Given the description of an element on the screen output the (x, y) to click on. 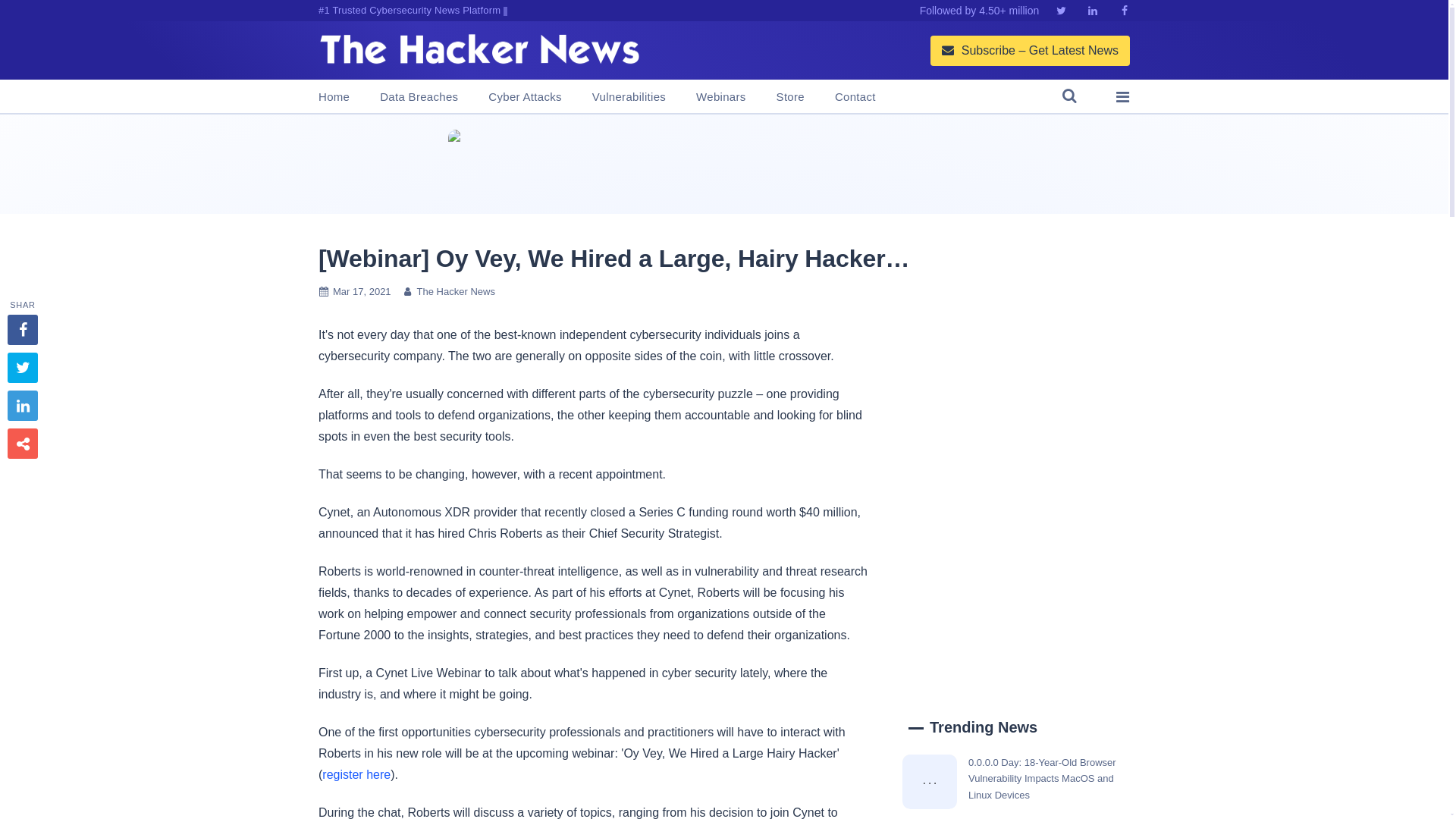
Contact (855, 96)
Cyber Attacks (523, 96)
Data Breaches (419, 96)
Webinars (720, 96)
Vulnerabilities (628, 96)
Home (333, 96)
register here (355, 774)
